Given the description of an element on the screen output the (x, y) to click on. 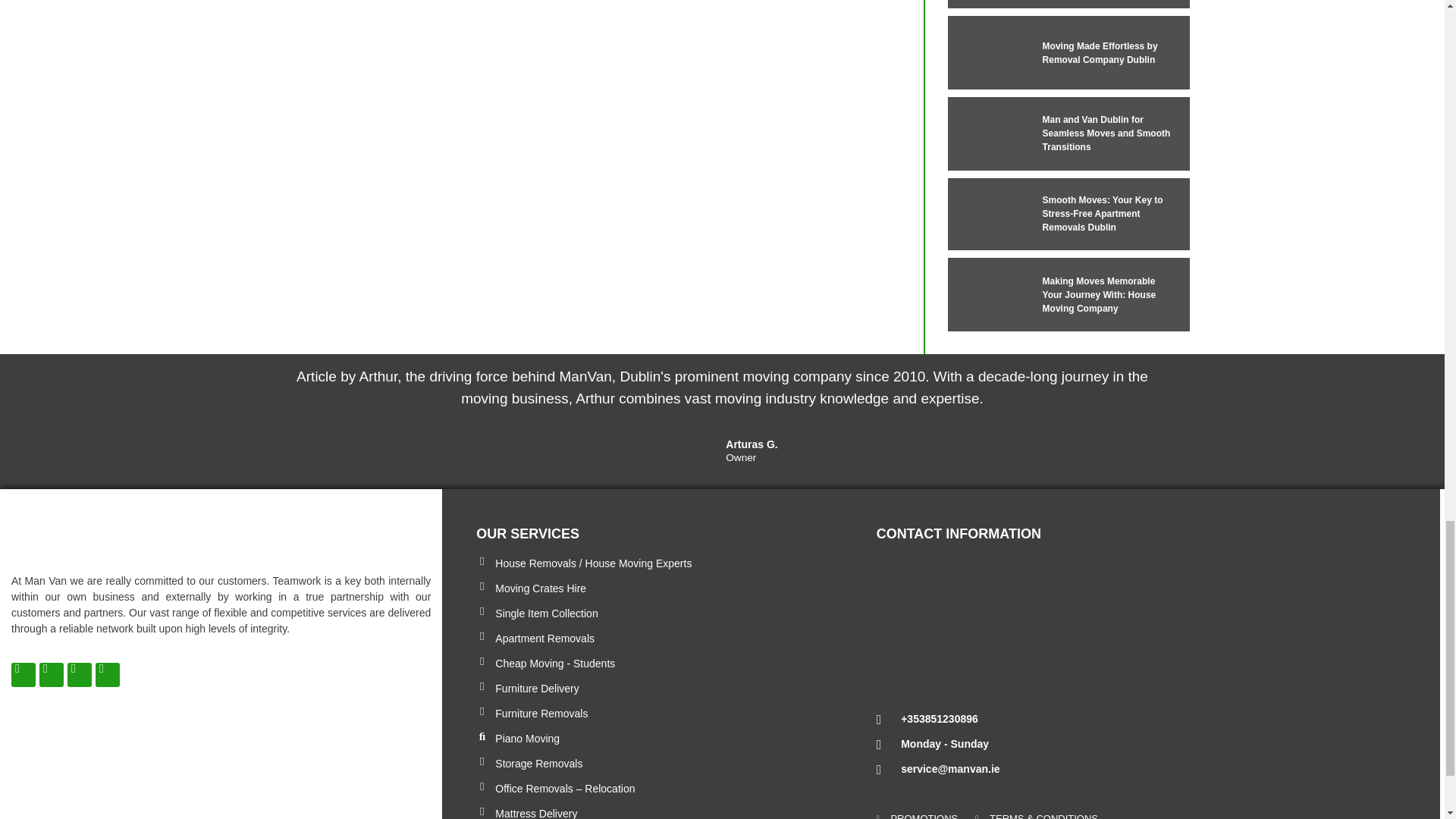
Moving Made Effortless by Removal Company Dublin 13 (985, 52)
